Given the description of an element on the screen output the (x, y) to click on. 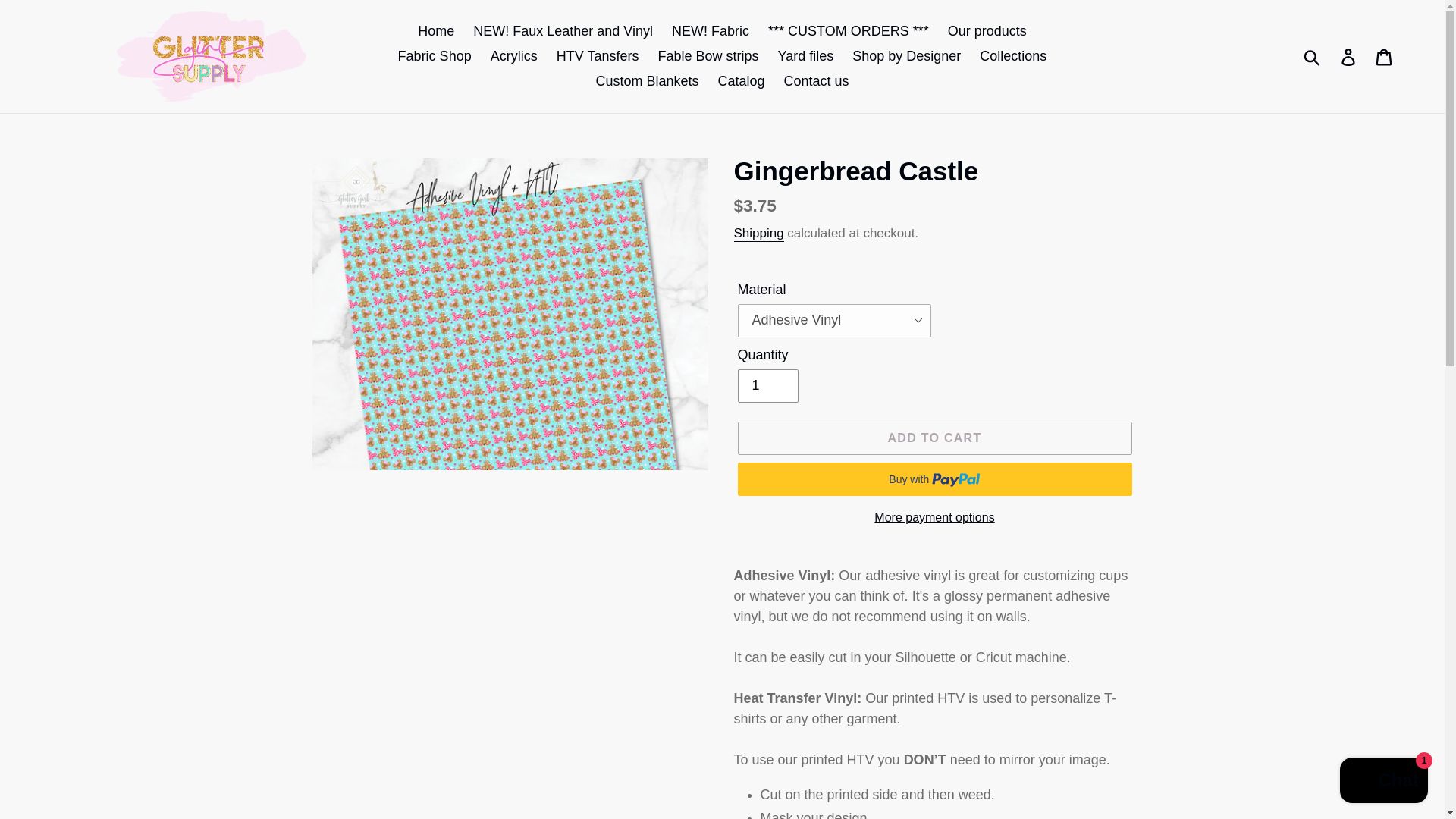
Acrylics (513, 56)
NEW! Faux Leather and Vinyl (563, 31)
NEW! Fabric (710, 31)
Home (435, 31)
Our products (986, 31)
Fable Bow strips (707, 56)
1 (766, 385)
Yard files (805, 56)
Custom Blankets (647, 81)
Cart (1385, 56)
Collections (1013, 56)
Fabric Shop (434, 56)
Shop by Designer (906, 56)
Catalog (740, 81)
HTV Tansfers (597, 56)
